Given the description of an element on the screen output the (x, y) to click on. 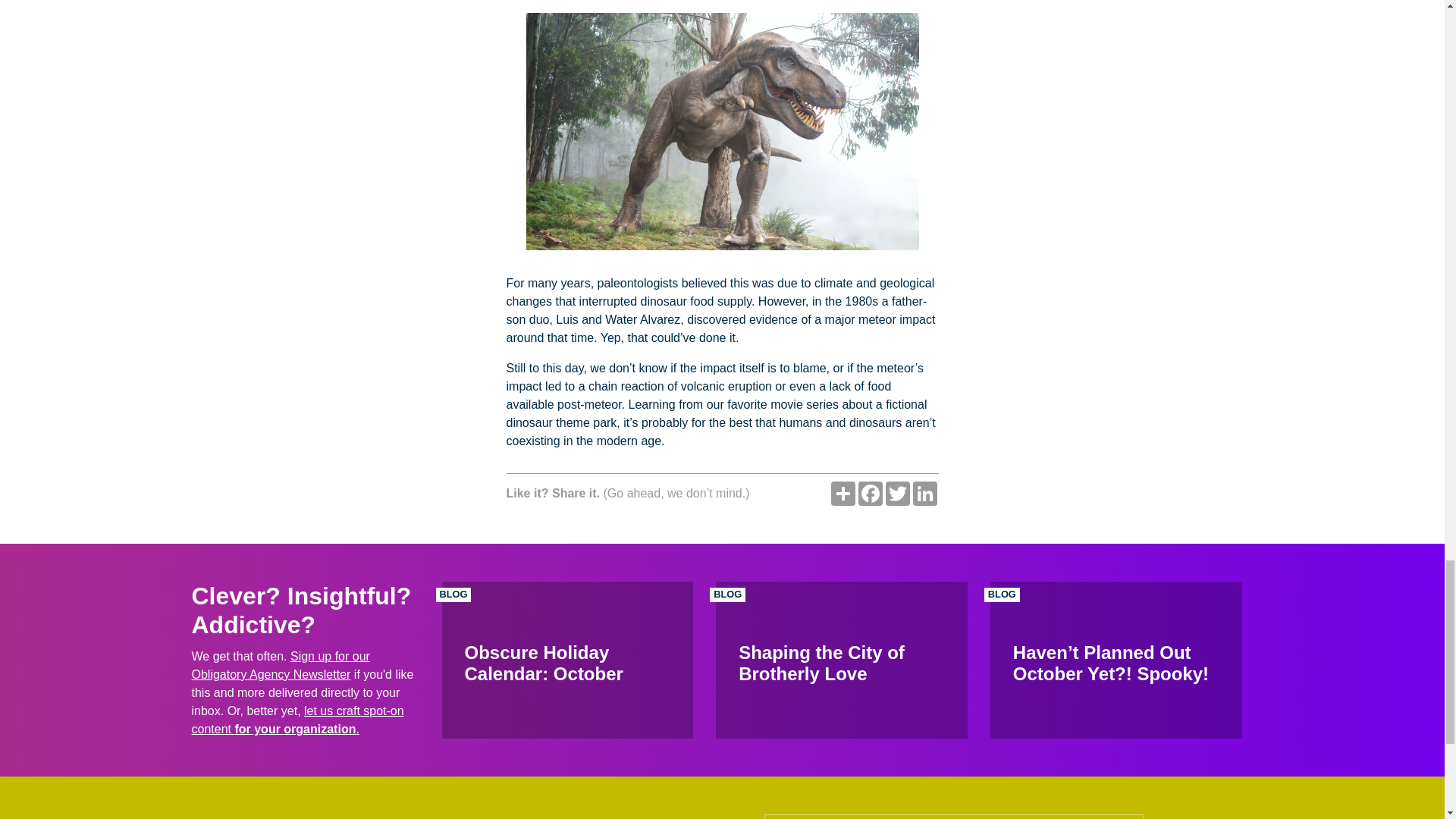
Twitter (897, 493)
Obscure Holiday Calendar: October (567, 659)
Sign up for our Obligatory Agency Newsletter (279, 665)
Share (843, 493)
unsplash.com (721, 131)
LinkedIn (925, 493)
let us craft spot-on content for your organization. (296, 719)
Facebook (870, 493)
Shaping the City of Brotherly Love (842, 659)
